Given the description of an element on the screen output the (x, y) to click on. 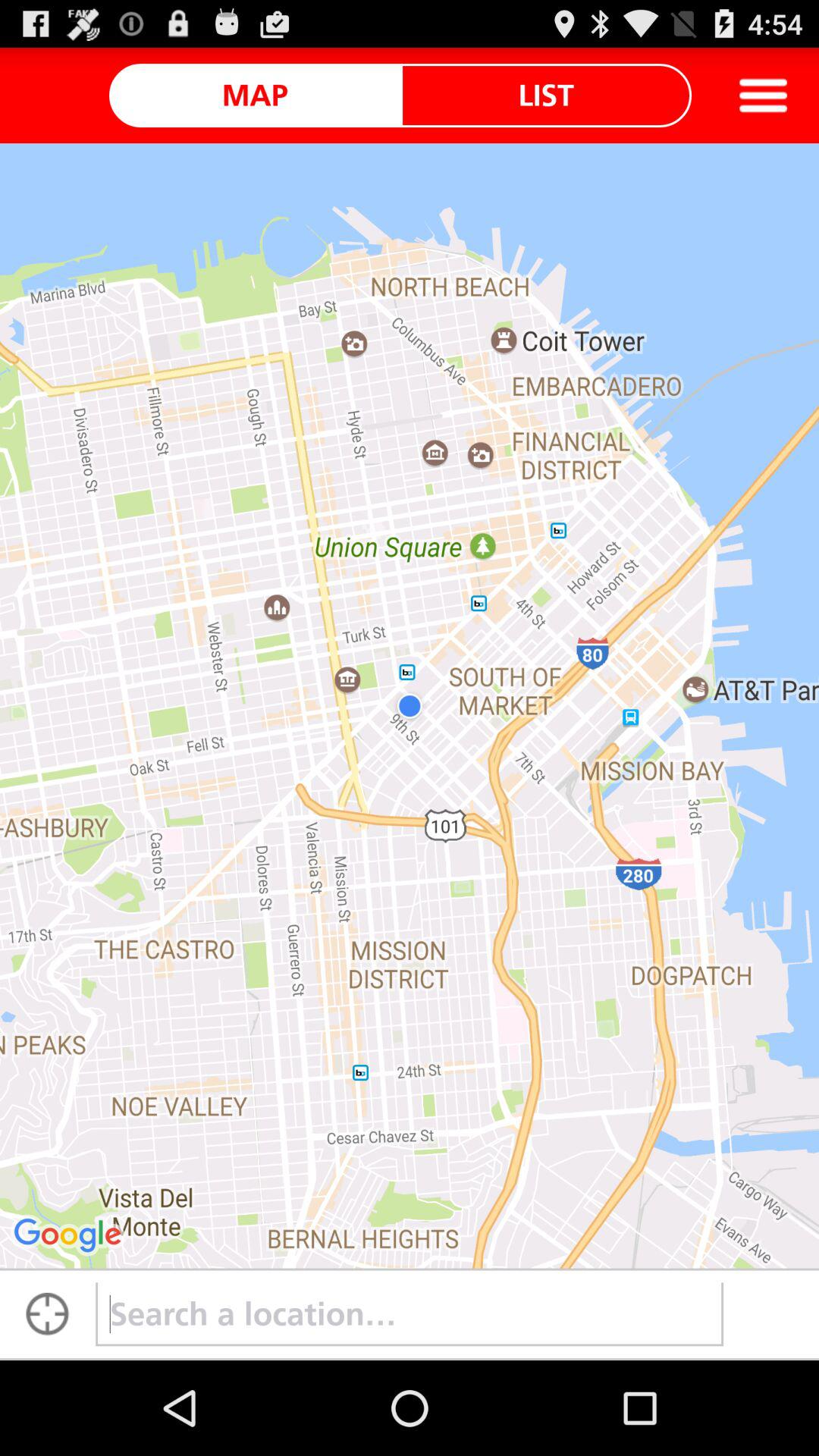
search a location (47, 1314)
